Given the description of an element on the screen output the (x, y) to click on. 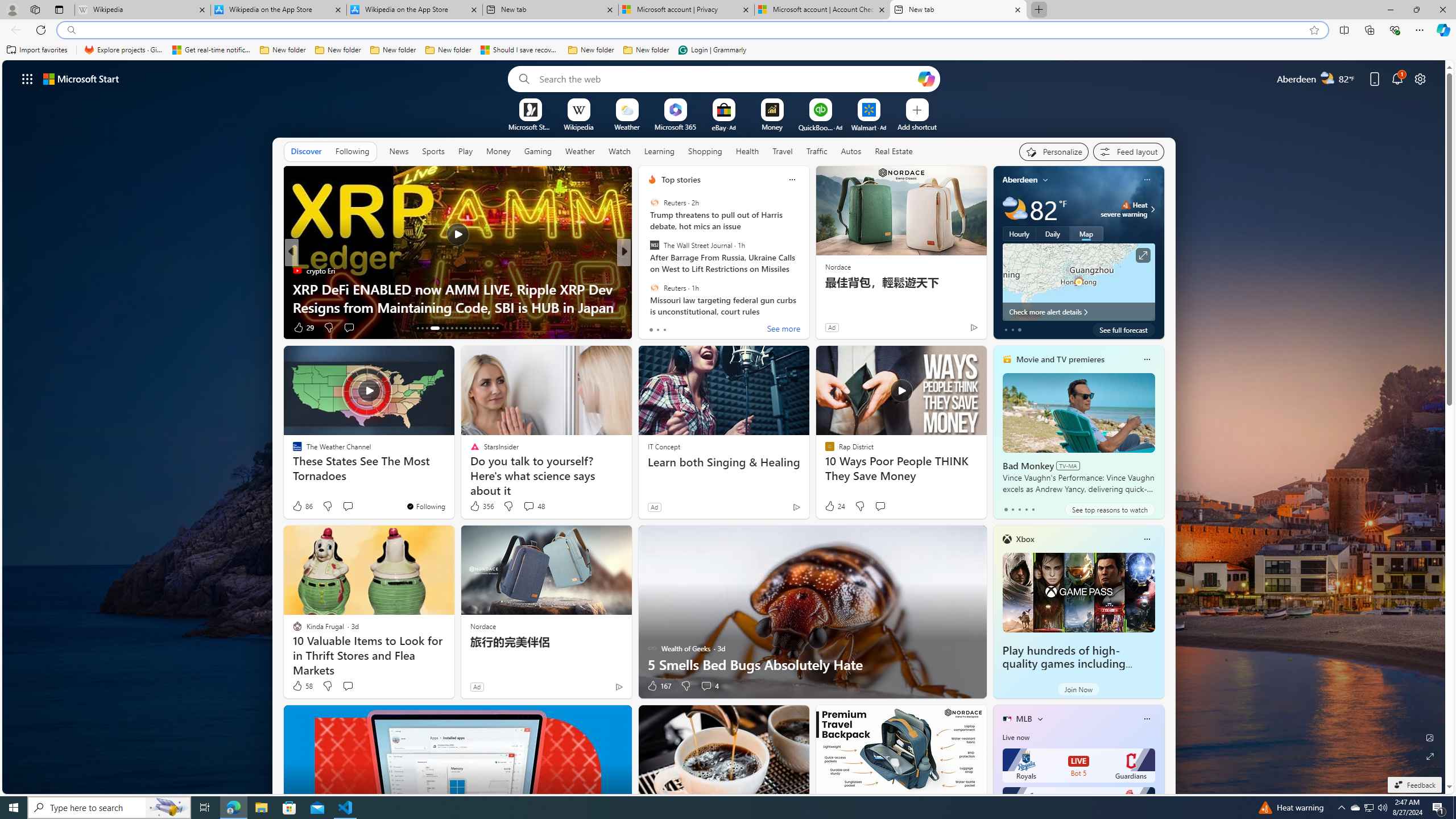
Import favorites (36, 49)
Heat - Severe Heat severe warning (1123, 208)
Join Now (1078, 689)
Discover (306, 151)
Health (746, 151)
AutomationID: tab-28 (492, 328)
AutomationID: tab-20 (456, 328)
tab-1 (1012, 509)
AutomationID: tab-23 (470, 328)
AutomationID: tab-16 (431, 328)
Favorites bar (728, 49)
